Given the description of an element on the screen output the (x, y) to click on. 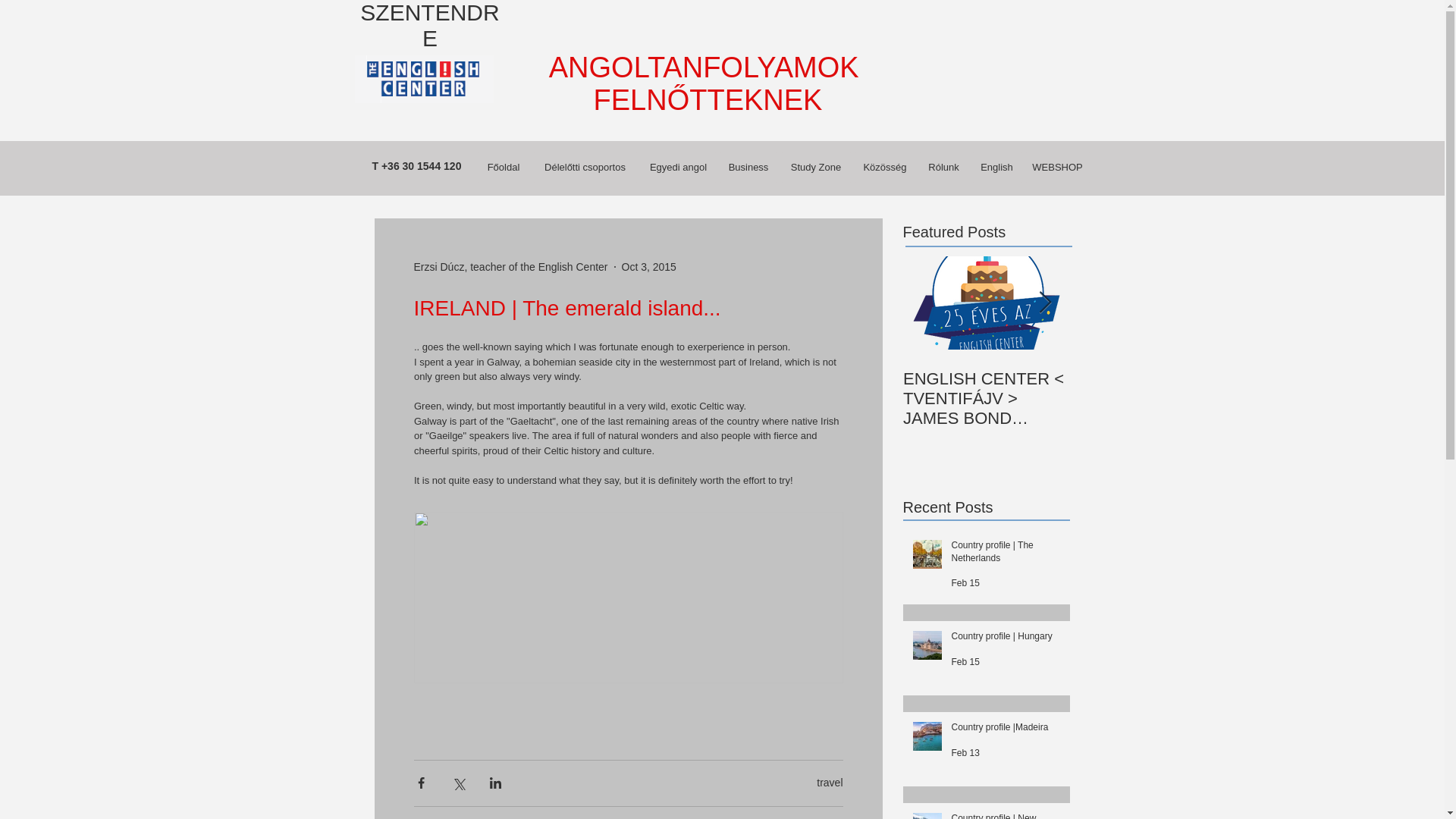
Oct 3, 2015 (649, 266)
Business (748, 167)
Study Zone (815, 167)
Feb 15 (964, 583)
Feb 15 (964, 661)
Egyedi angol (678, 167)
Feb 13 (964, 752)
